Given the description of an element on the screen output the (x, y) to click on. 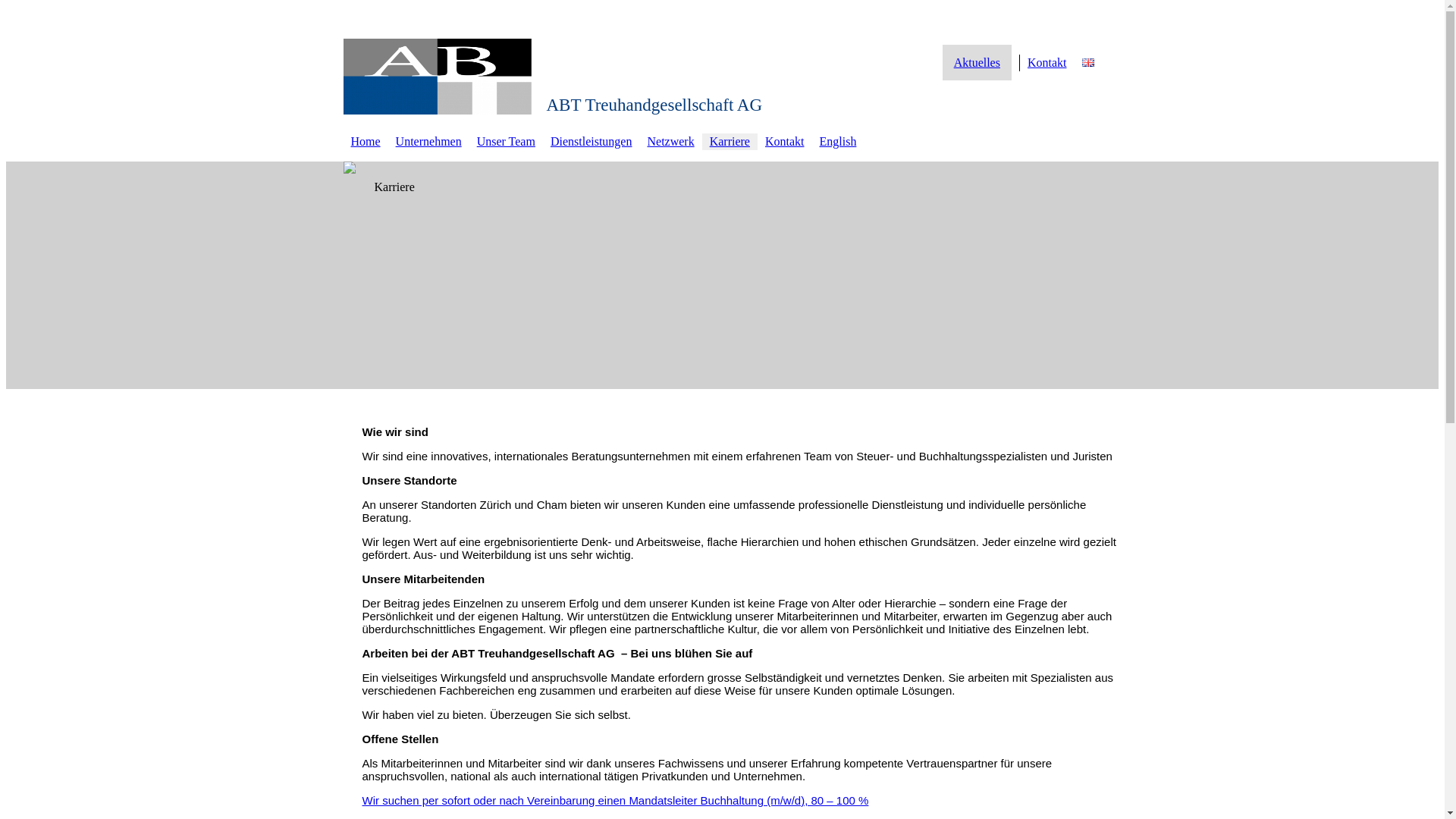
Dienstleistungen Element type: text (591, 140)
Karriere Element type: text (729, 140)
Kontakt Element type: text (784, 140)
Springe zum Inhalt Element type: text (5, 18)
Home Element type: text (364, 140)
Netzwerk Element type: text (669, 140)
Kontakt Element type: text (1046, 62)
Unternehmen Element type: text (428, 140)
English Element type: text (837, 140)
Aktuelles Element type: text (976, 62)
Unser Team Element type: text (505, 140)
